Given the description of an element on the screen output the (x, y) to click on. 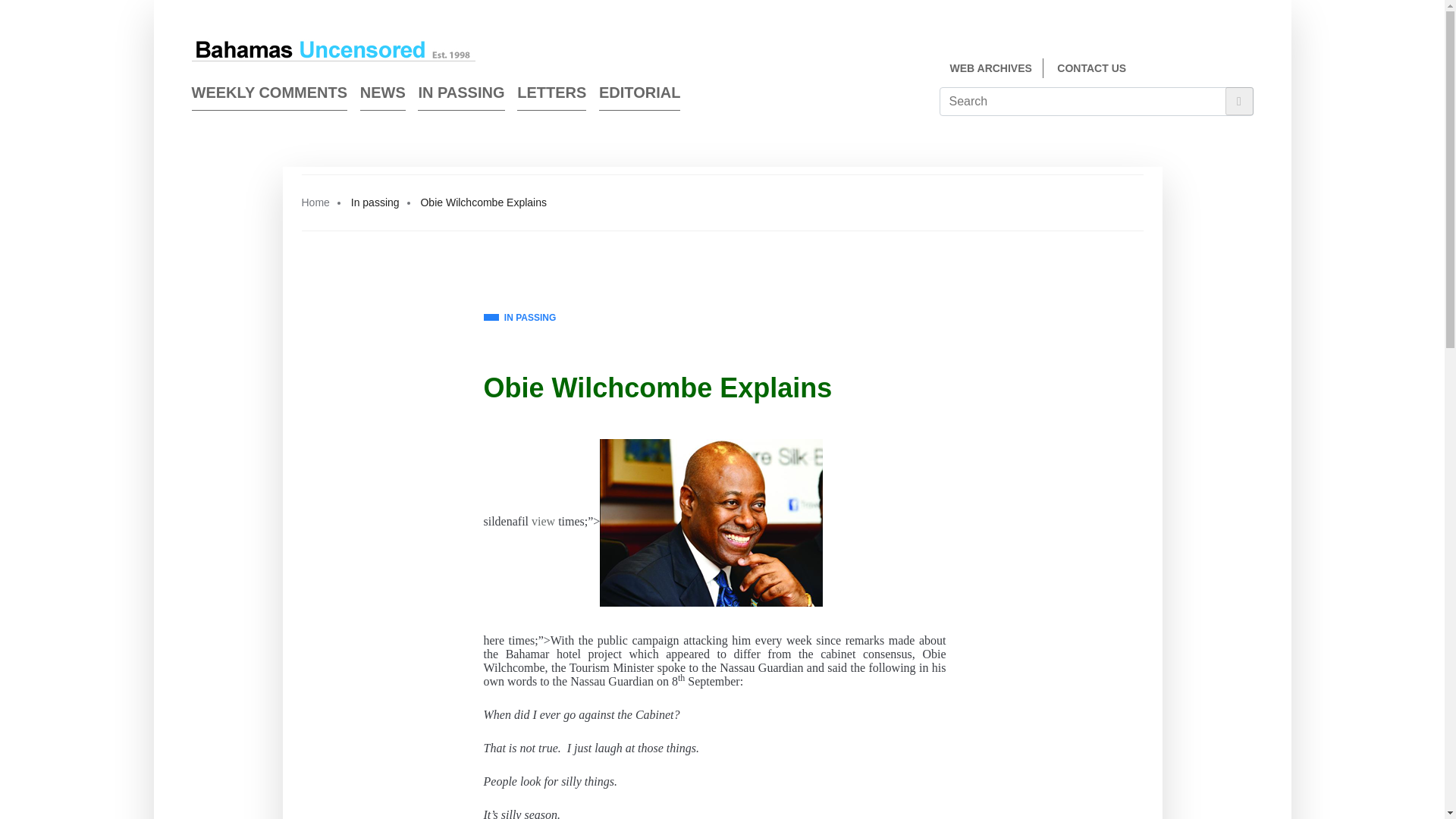
NEWS (382, 95)
EDITORIAL (638, 95)
Twitter (1246, 69)
IN PASSING (460, 95)
view (542, 521)
LETTERS (551, 95)
WEEKLY COMMENTS (268, 95)
IN PASSING (519, 318)
CONTACT US (1091, 67)
WEB ARCHIVES (989, 67)
Face Book (1218, 69)
Home (315, 202)
